Given the description of an element on the screen output the (x, y) to click on. 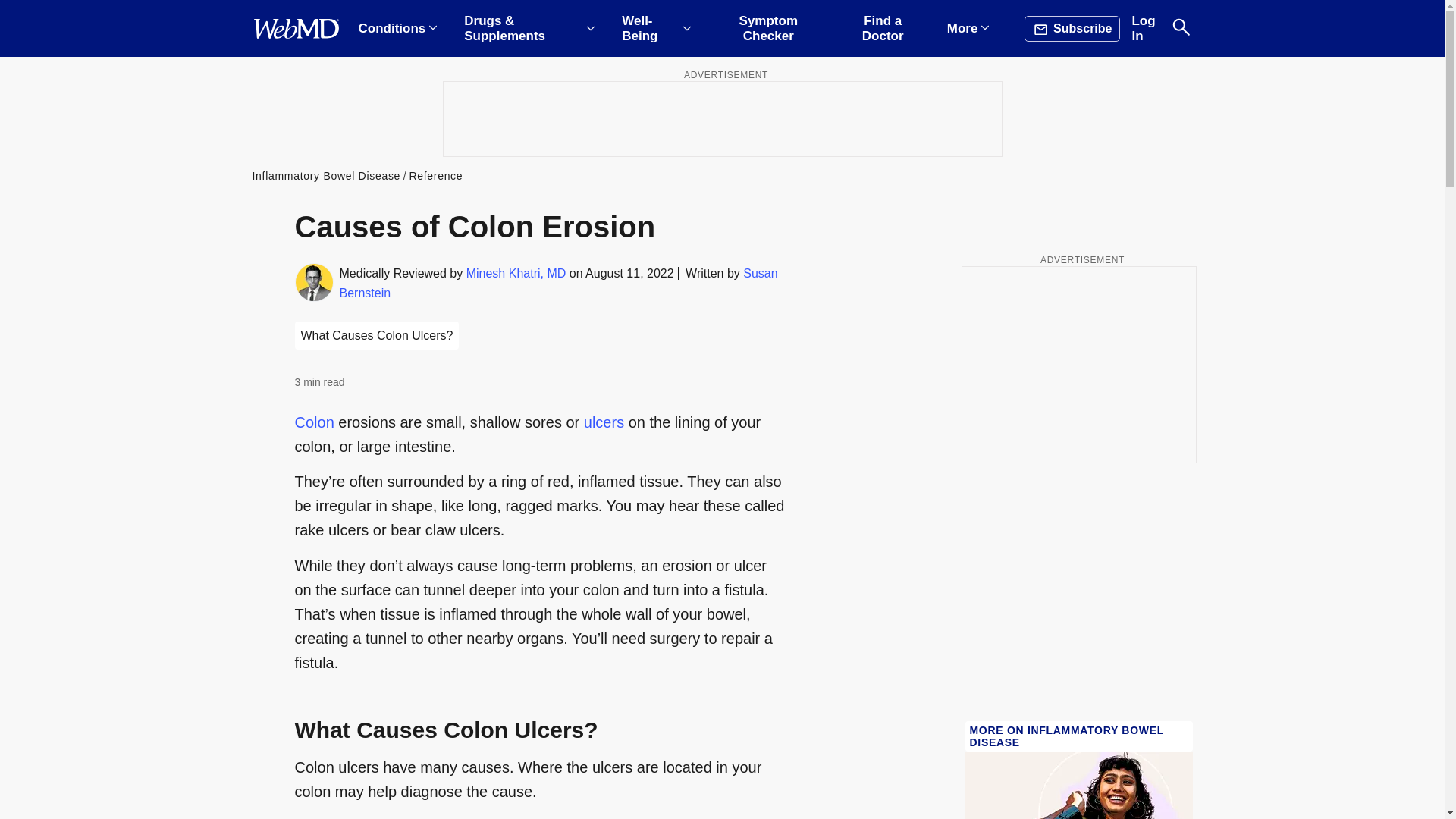
3rd party ad content (721, 119)
Conditions (397, 28)
3rd party ad content (1077, 364)
